Given the description of an element on the screen output the (x, y) to click on. 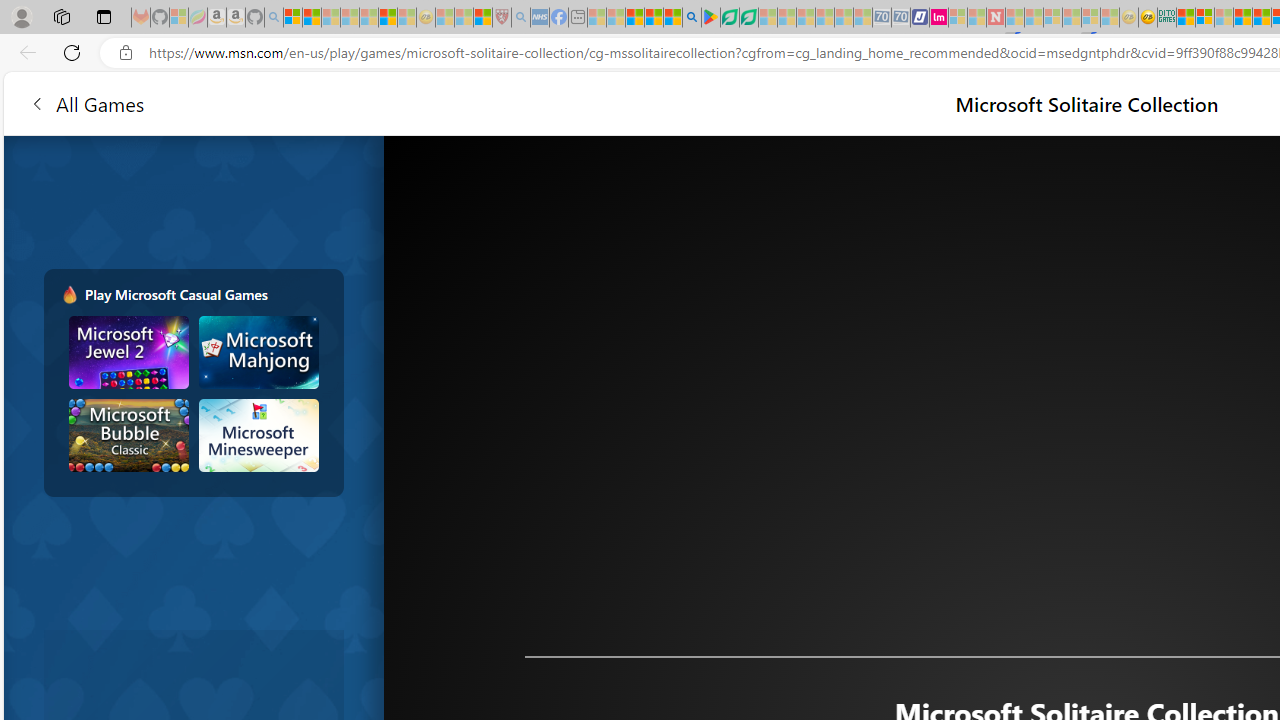
Microsoft account | Privacy - Sleeping (957, 17)
Microsoft Mahjong (258, 352)
MSNBC - MSN (1185, 17)
Microsoft Mahjong (258, 352)
Terms of Use Agreement (729, 17)
Recipes - MSN - Sleeping (445, 17)
